Given the description of an element on the screen output the (x, y) to click on. 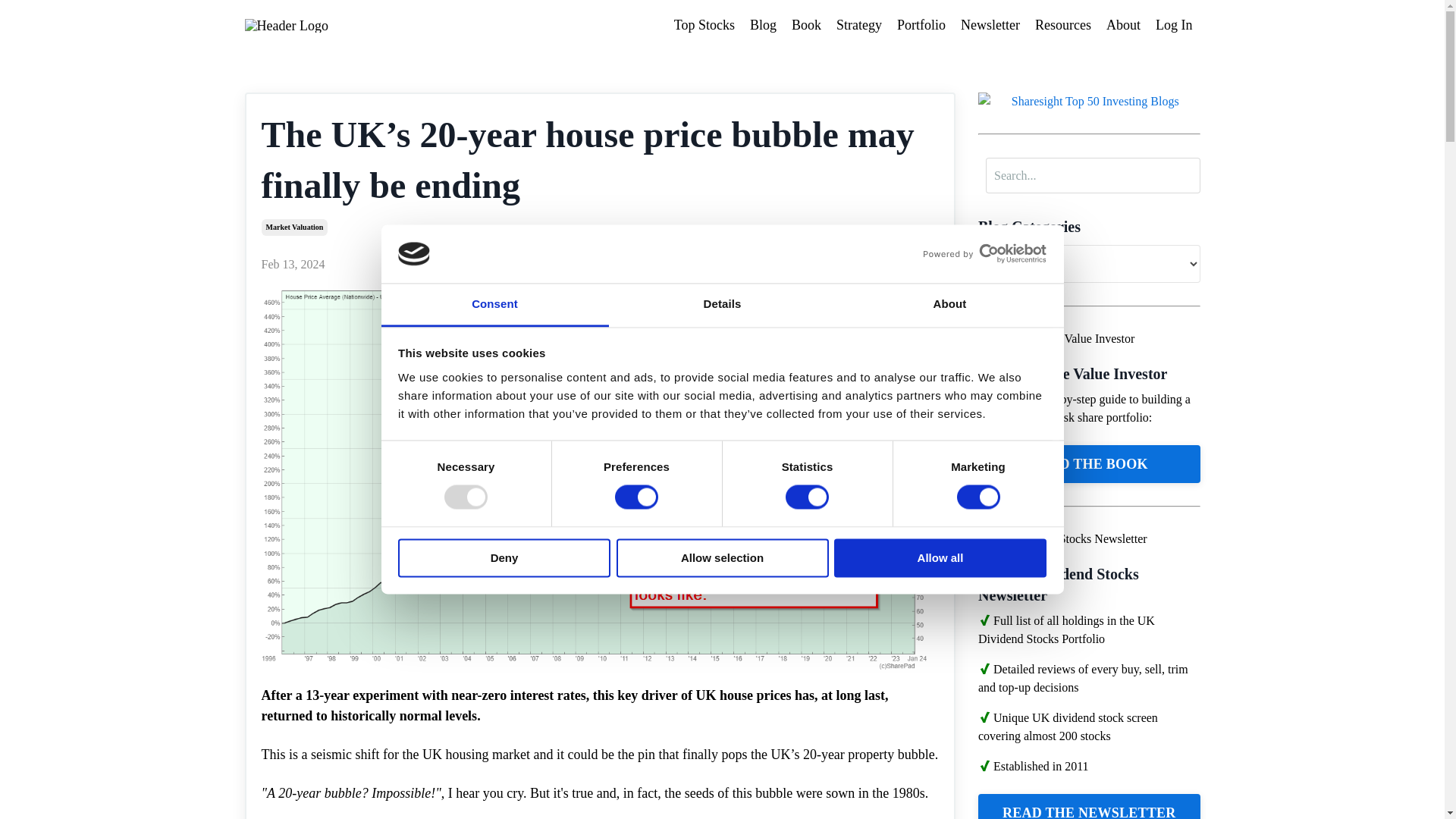
Consent (494, 304)
About (948, 304)
Details (721, 304)
